Given the description of an element on the screen output the (x, y) to click on. 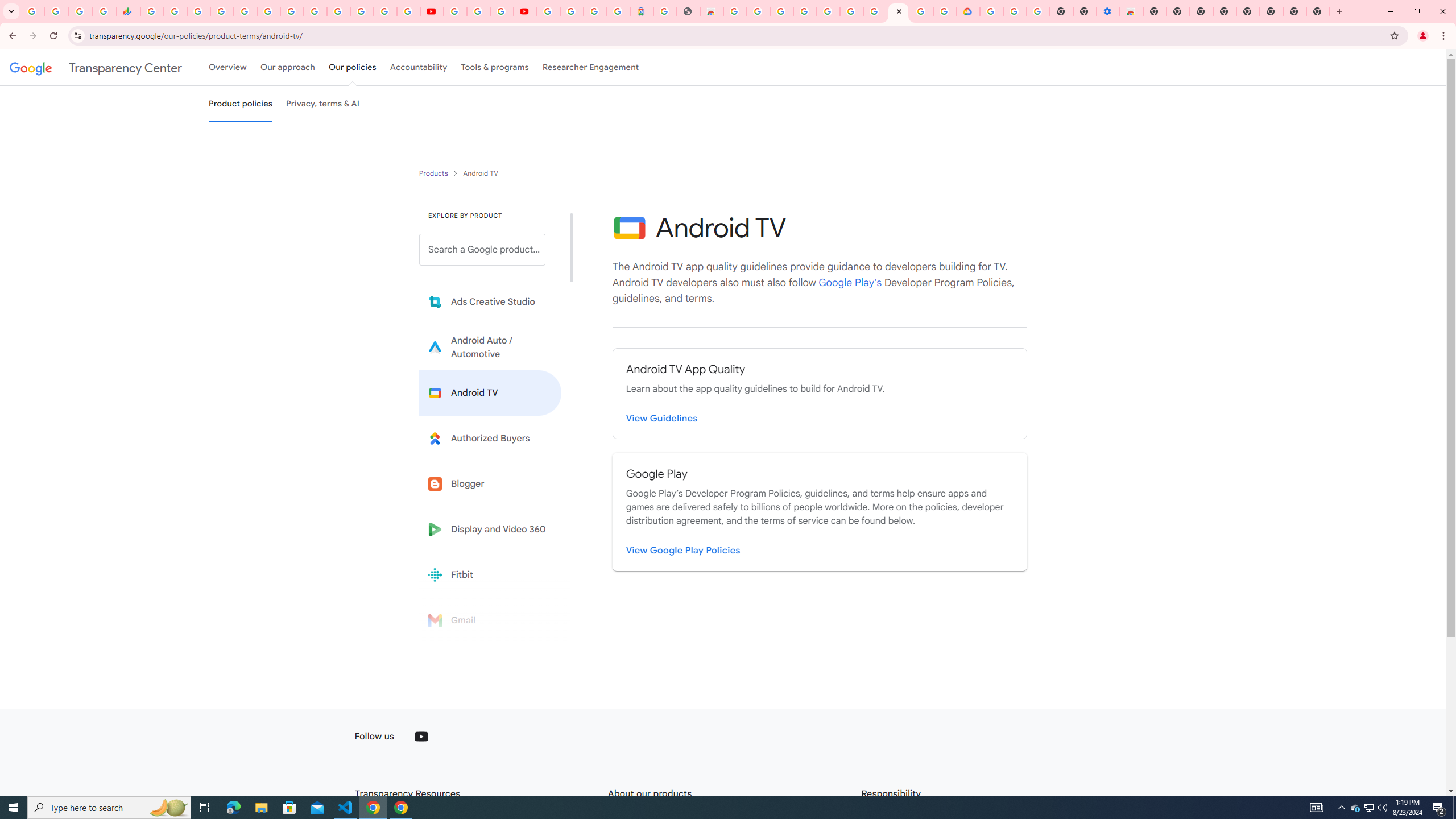
Display and Video 360 (490, 529)
Settings - Accessibility (1108, 11)
Transparency Center (95, 67)
YouTube (431, 11)
Learn more about Android Auto (490, 347)
Learn more about Ads Creative Studio (490, 302)
New Tab (1155, 11)
Create your Google Account (757, 11)
Sign in - Google Accounts (221, 11)
View Guidelines (661, 418)
